Given the description of an element on the screen output the (x, y) to click on. 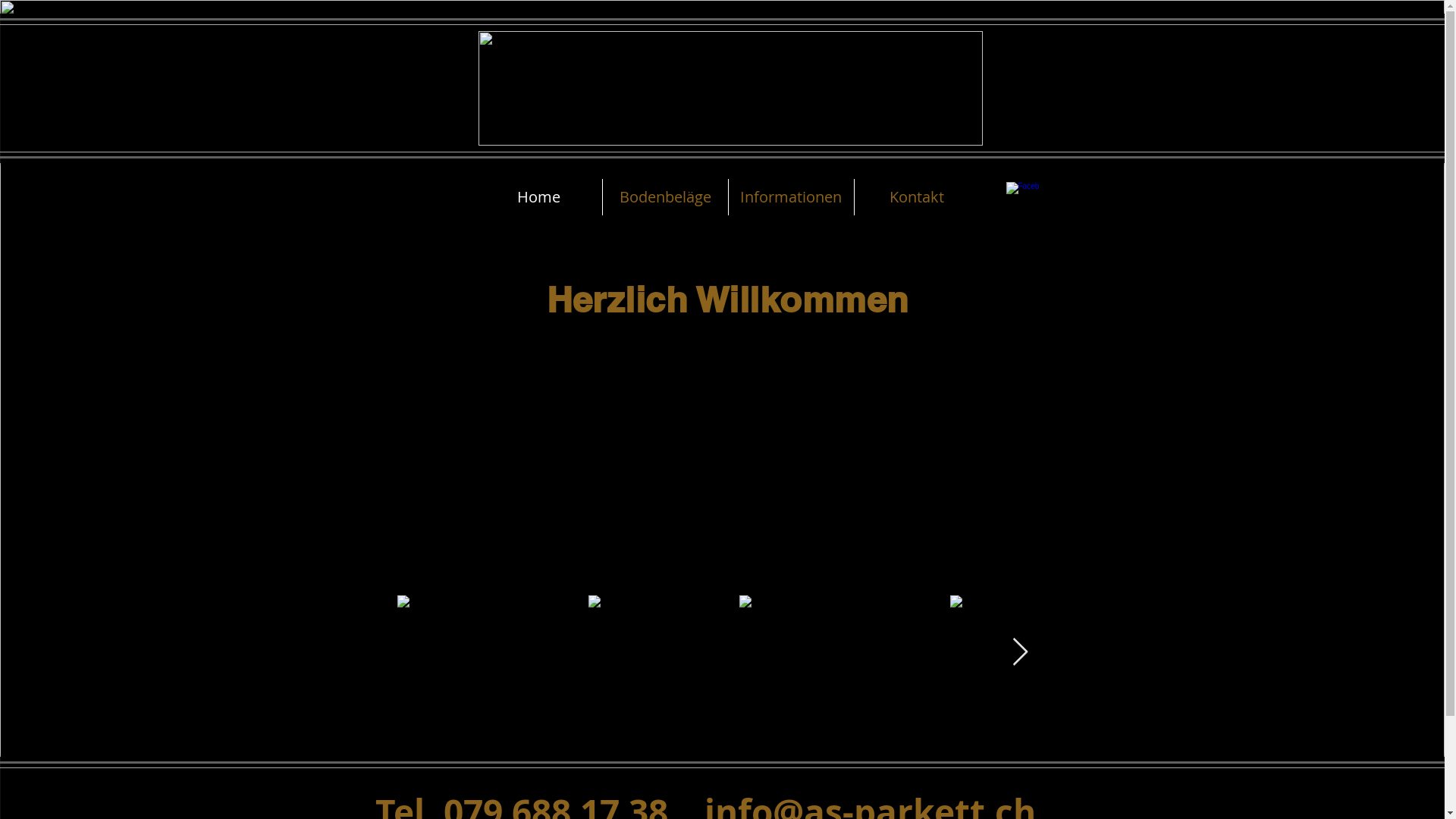
Informationen Element type: text (790, 196)
Kontakt Element type: text (916, 196)
Home Element type: text (537, 196)
